Given the description of an element on the screen output the (x, y) to click on. 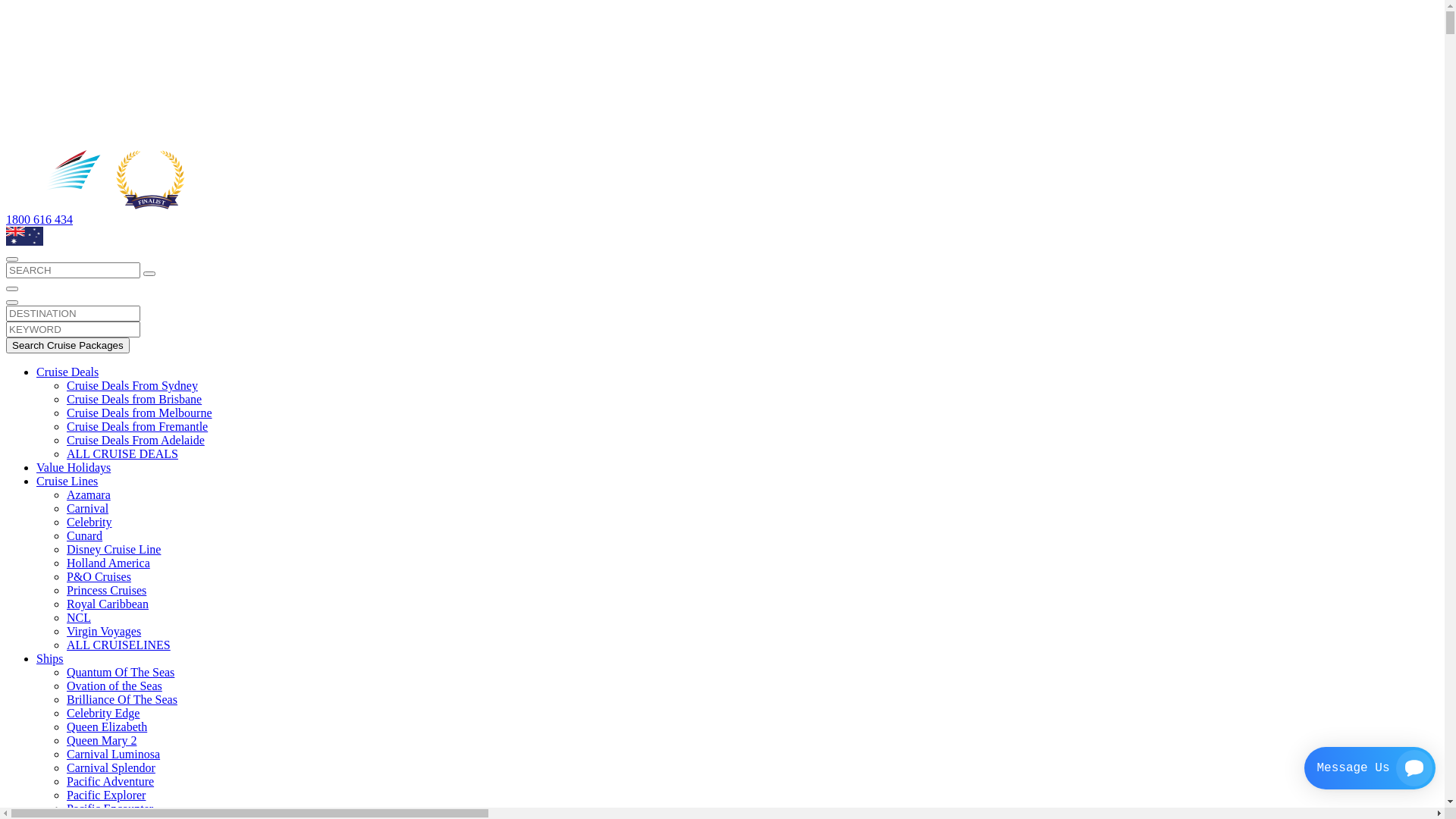
Cunard Element type: text (84, 535)
Princess Cruises Element type: text (106, 589)
Pacific Adventure Element type: text (109, 781)
Smartsupp widget button Element type: hover (1369, 767)
NCL Element type: text (78, 617)
Celebrity Element type: text (89, 521)
Azamara Element type: text (88, 494)
Carnival Element type: text (87, 508)
Carnival Splendor Element type: text (110, 767)
Virgin Voyages Element type: text (103, 630)
Ovation of the Seas Element type: text (114, 685)
Quantum Of The Seas Element type: text (120, 671)
Queen Elizabeth Element type: text (106, 726)
ALL CRUISELINES Element type: text (118, 644)
Cruise Lines Element type: text (66, 480)
Royal Caribbean Element type: text (107, 603)
ALL CRUISE DEALS Element type: text (122, 453)
Cruise Deals from Fremantle Element type: text (136, 426)
Cruise Deals from Melbourne Element type: text (139, 412)
Pacific Explorer Element type: text (105, 794)
Cruise Deals From Sydney Element type: text (131, 385)
Ships Element type: text (49, 658)
Value Holidays Element type: text (73, 467)
Brilliance Of The Seas Element type: text (121, 699)
Search Cruise Packages Element type: text (67, 345)
Pacific Encounter Element type: text (109, 808)
P&O Cruises Element type: text (98, 576)
Cruise Deals from Brisbane Element type: text (133, 398)
Holland America Element type: text (108, 562)
Queen Mary 2 Element type: text (101, 740)
Cruise Deals Element type: text (67, 371)
Carnival Luminosa Element type: text (113, 753)
Celebrity Edge Element type: text (102, 712)
Cruise Deals From Adelaide Element type: text (135, 439)
1800 616 434 Element type: text (39, 219)
Disney Cruise Line Element type: text (113, 548)
